Given the description of an element on the screen output the (x, y) to click on. 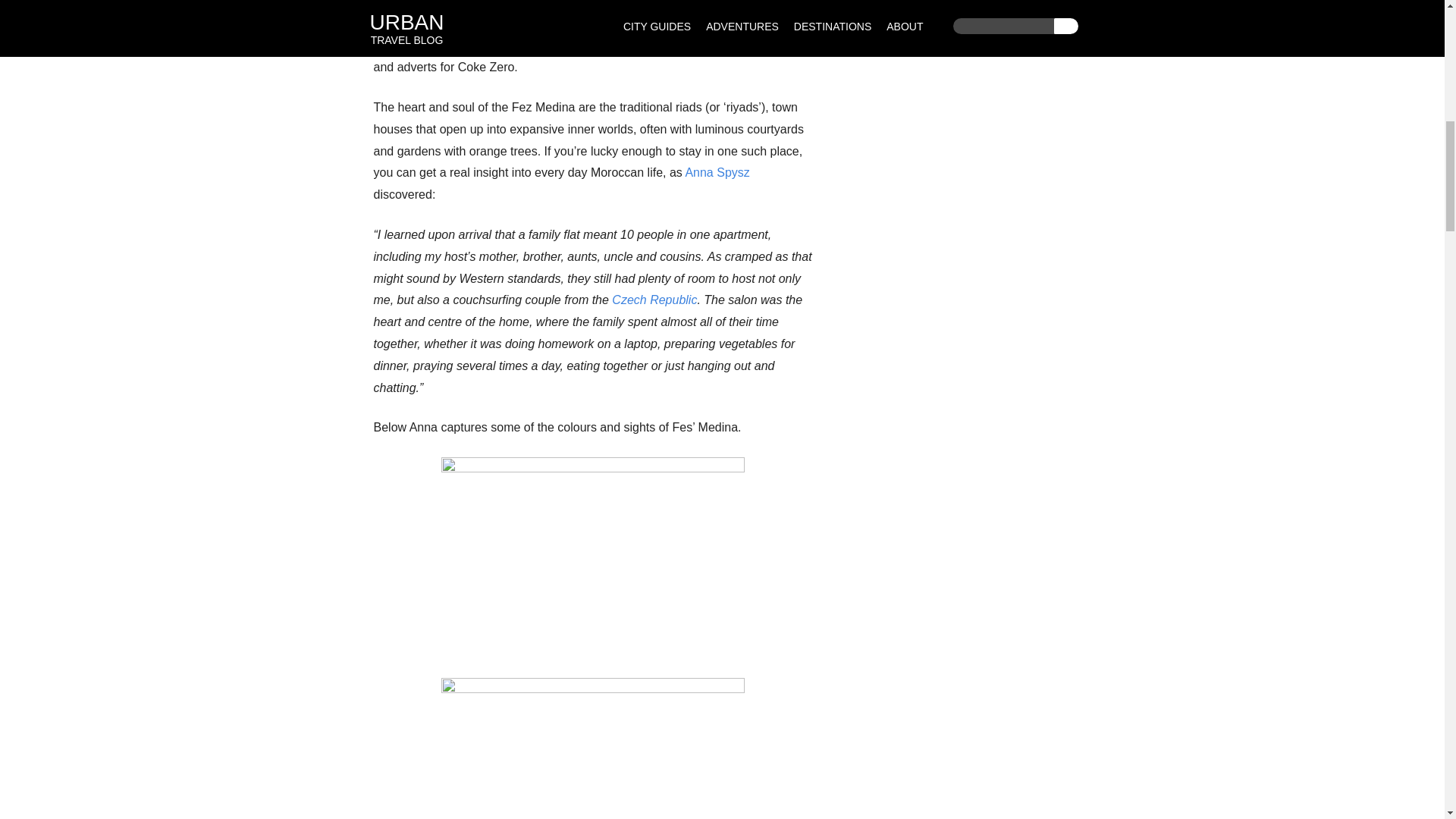
Anna Spysz (716, 172)
Facebook (608, 23)
Czech Republic (654, 299)
